Given the description of an element on the screen output the (x, y) to click on. 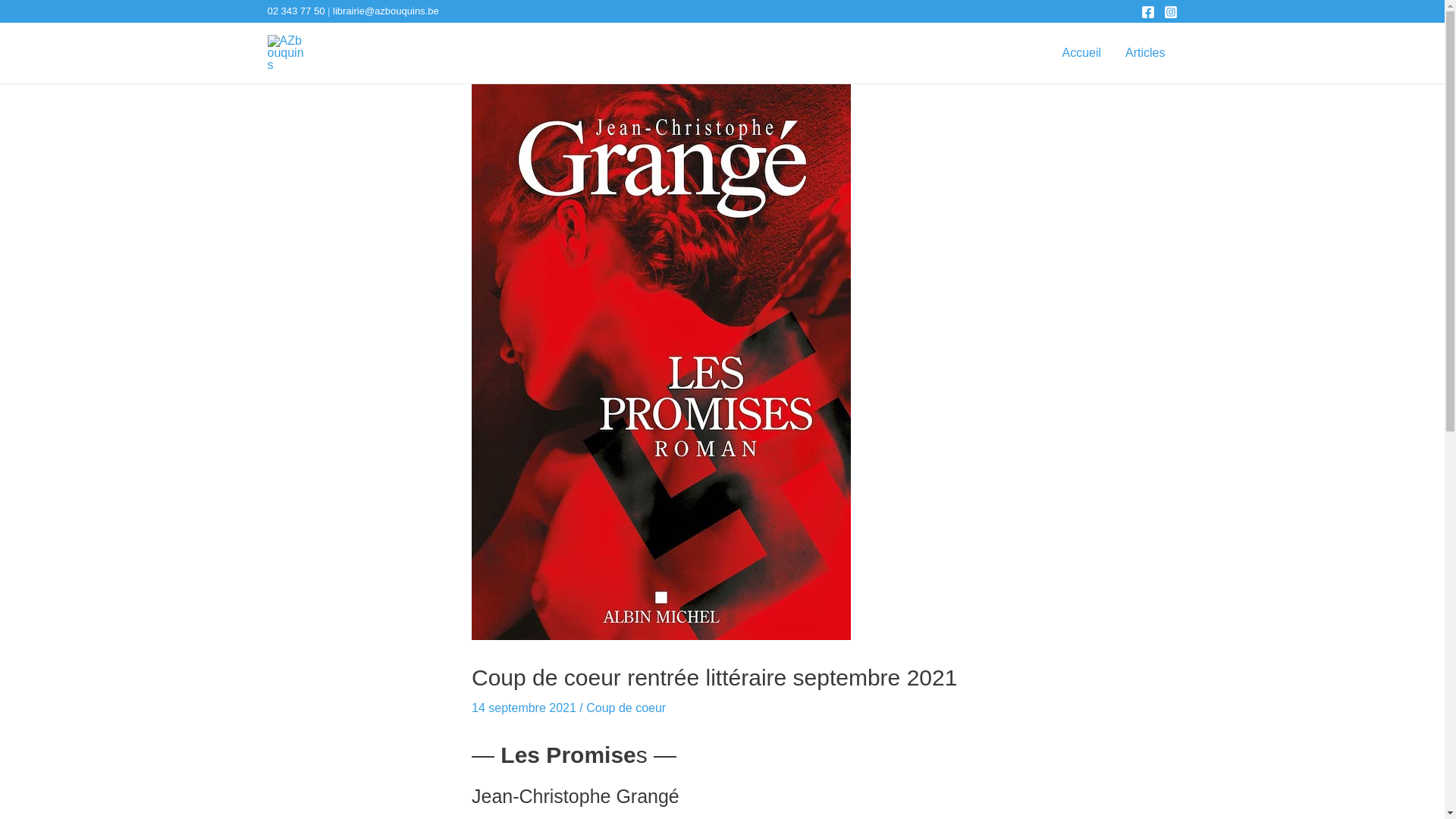
librairie@azbouquins.be Element type: text (385, 10)
Articles Element type: text (1144, 52)
Accueil Element type: text (1081, 52)
02 343 77 50 Element type: text (295, 10)
Coup de coeur Element type: text (625, 707)
